Given the description of an element on the screen output the (x, y) to click on. 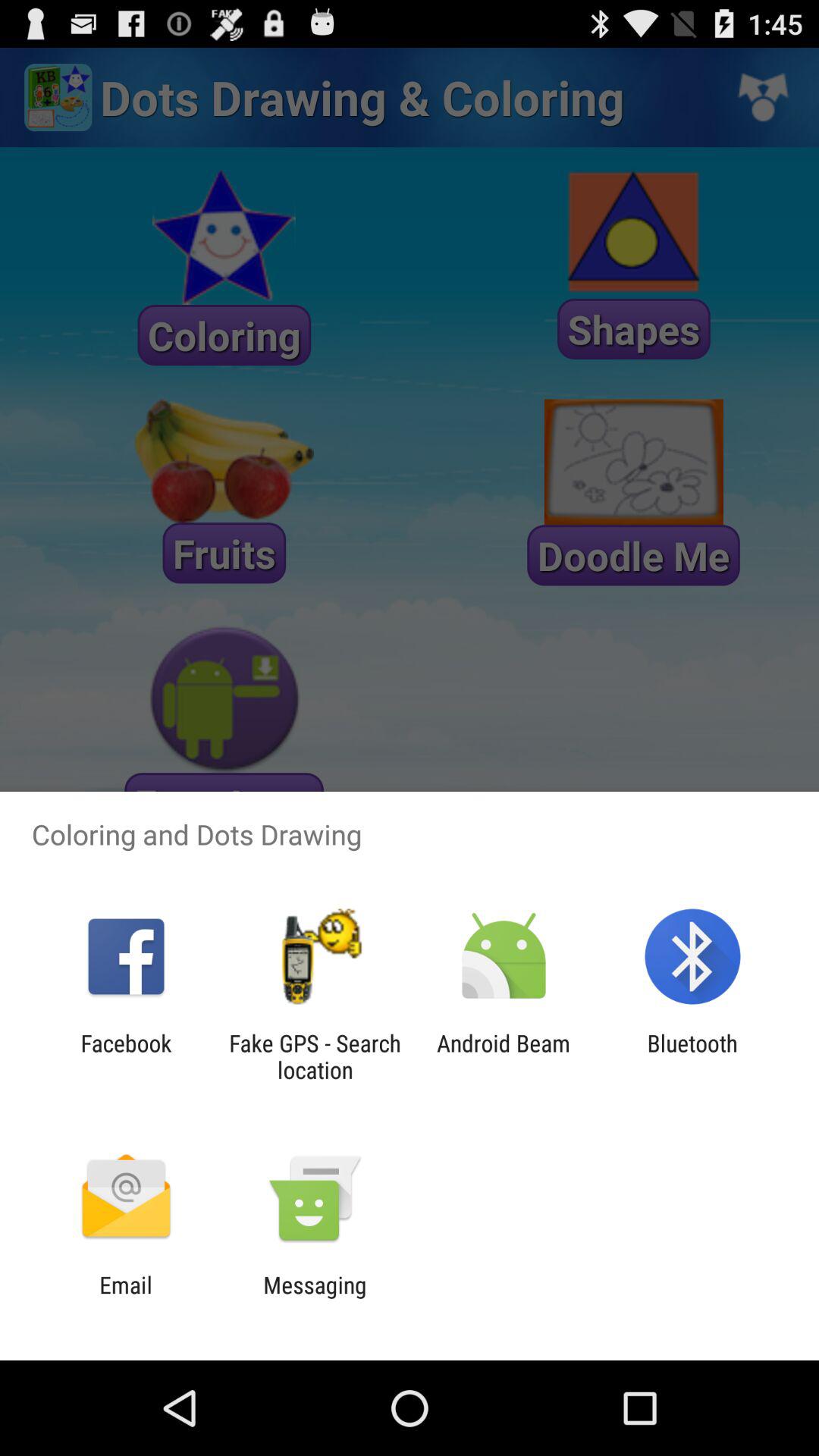
scroll until the android beam app (503, 1056)
